Given the description of an element on the screen output the (x, y) to click on. 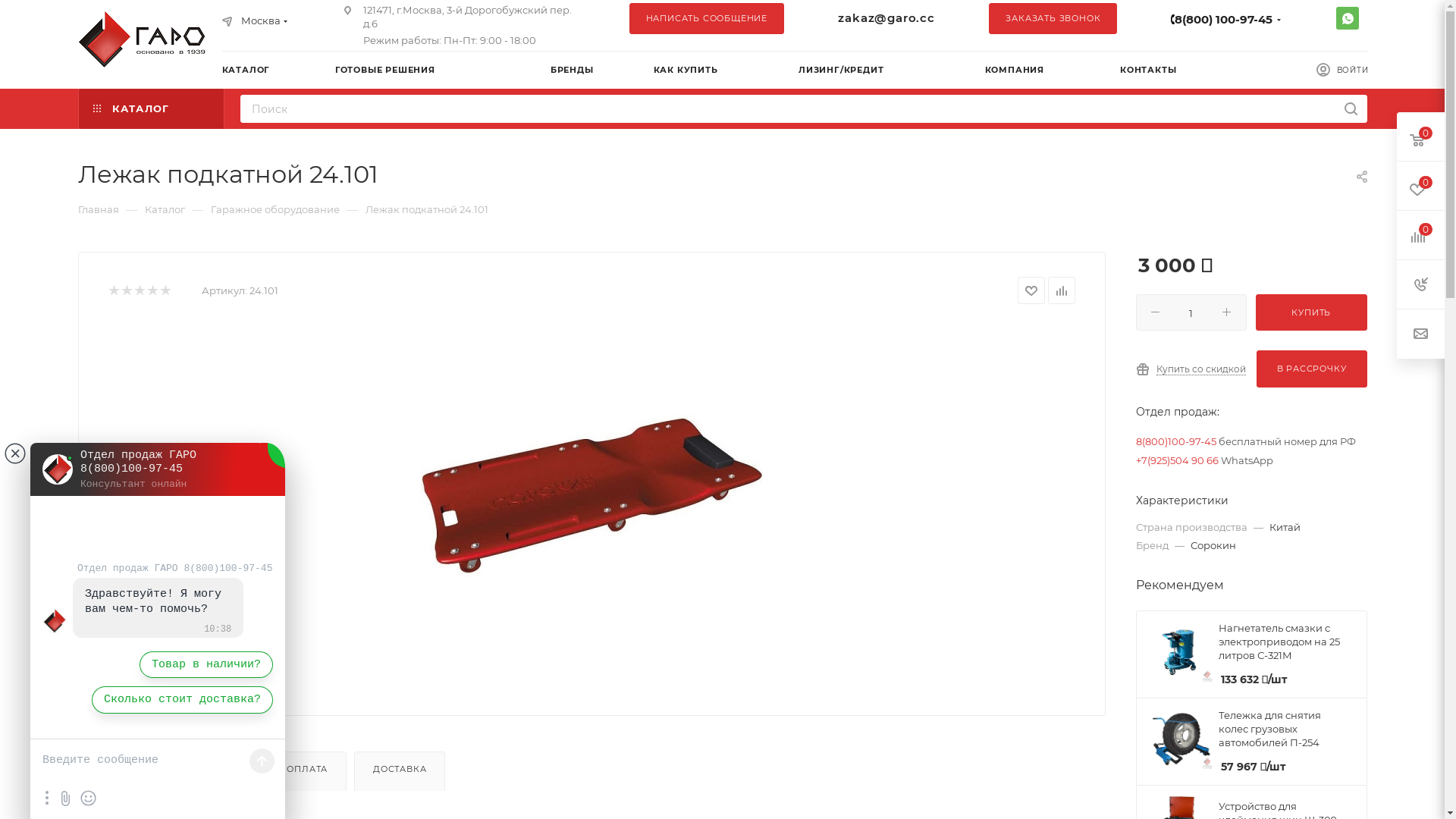
WhatsApp Element type: text (1347, 17)
zakaz@garo.cc Element type: text (885, 17)
garo.cc Element type: hover (145, 39)
8(800) 100-97-45 Element type: text (1223, 19)
8(800)100-97-45 Element type: text (1175, 441)
+7(925)504 90 66 Element type: text (1176, 460)
